Given the description of an element on the screen output the (x, y) to click on. 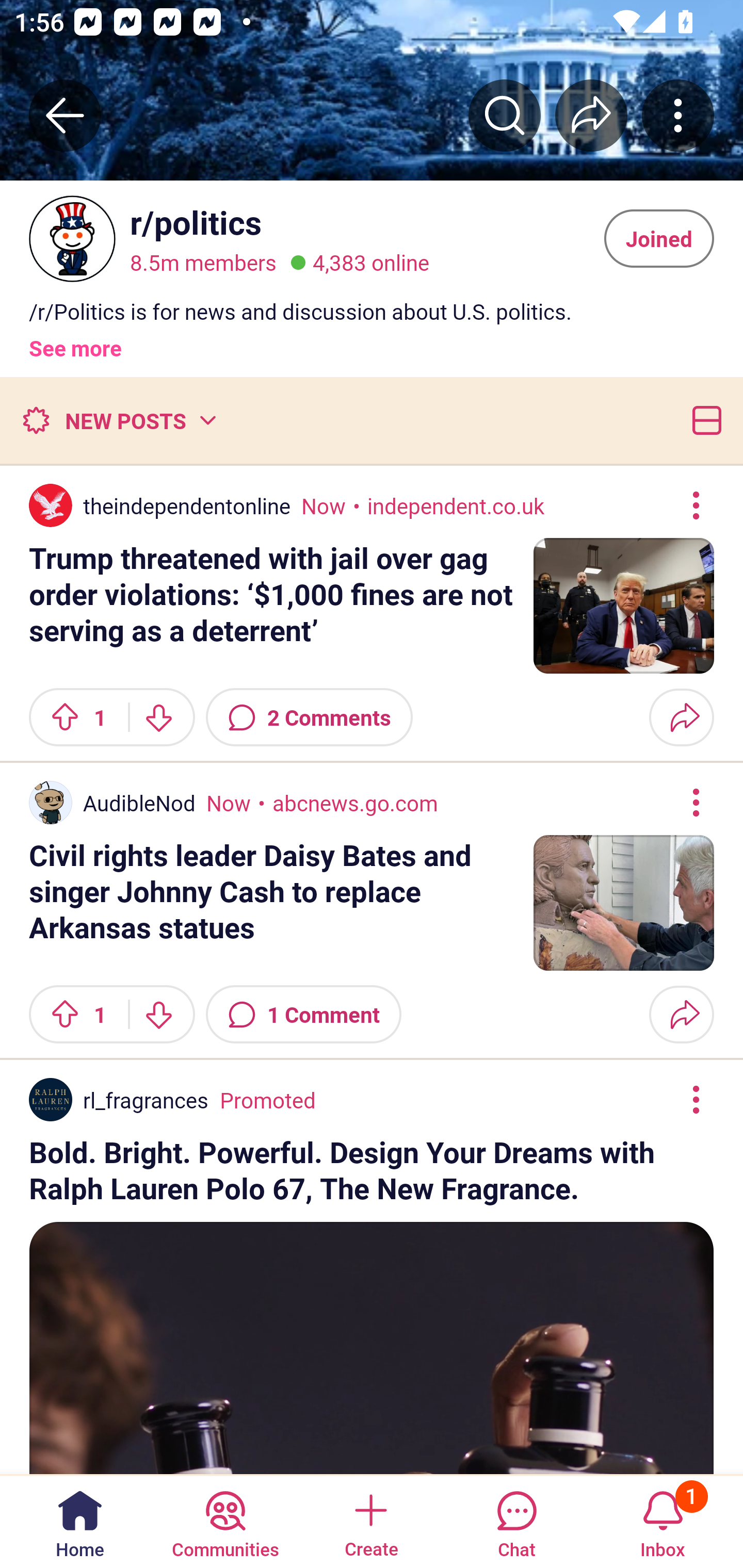
Back (64, 115)
Search r/﻿politics (504, 115)
Share r/﻿politics (591, 115)
More community actions (677, 115)
See more (74, 340)
New posts NEW POSTS (118, 420)
Card (703, 420)
Home (80, 1520)
Communities (225, 1520)
Create a post Create (370, 1520)
Chat (516, 1520)
Inbox, has 1 notification 1 Inbox (662, 1520)
